Given the description of an element on the screen output the (x, y) to click on. 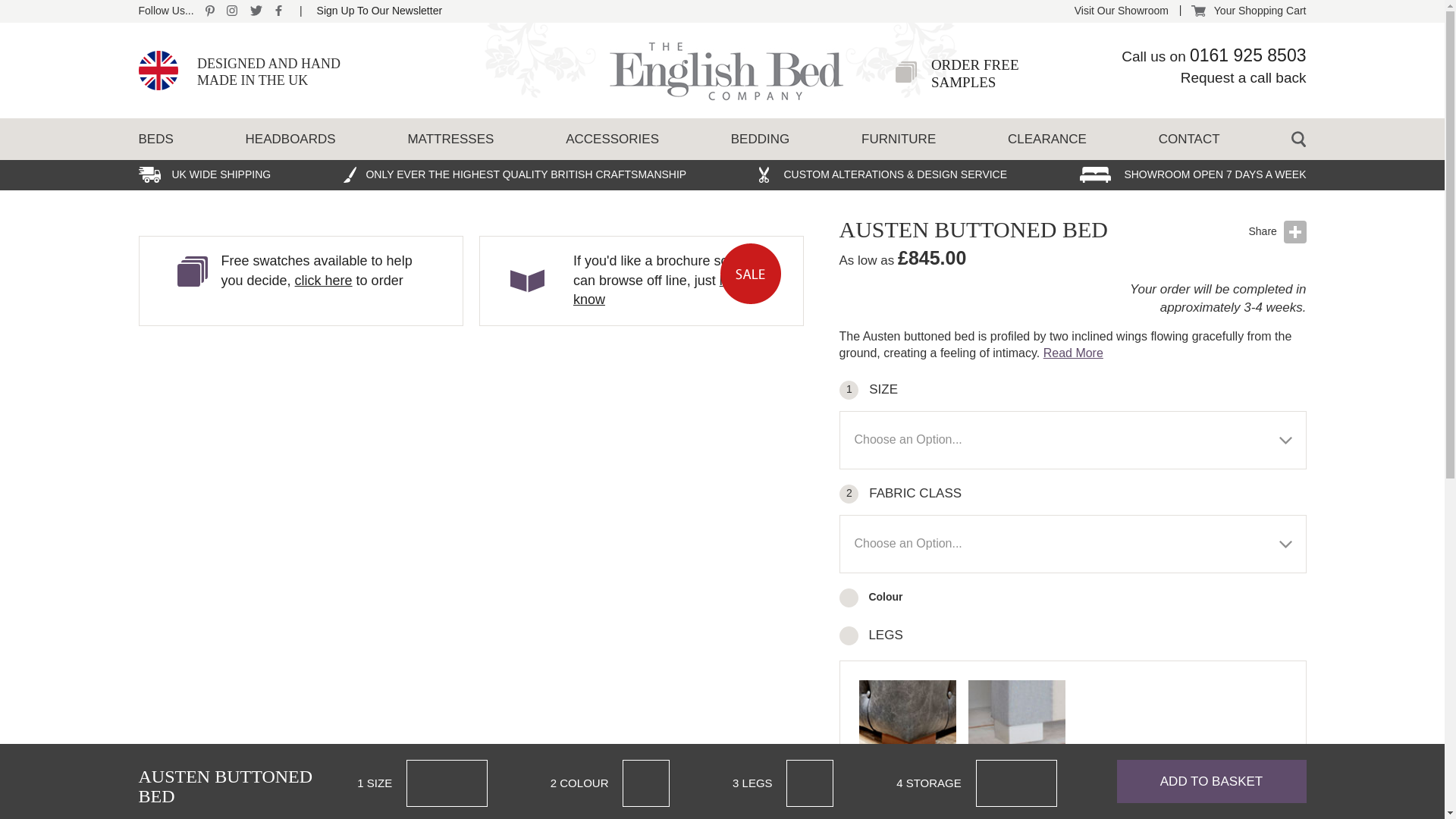
Visit Our Showroom (1121, 10)
Your Shopping Cart (1248, 10)
Sign Up To Our Newsletter (975, 73)
HEADBOARDS (379, 10)
Your Shopping Cart (291, 139)
BEDS (1248, 10)
0161 925 8503 (155, 139)
Order Free Samples (1247, 55)
Request a call back (975, 73)
Beds (1243, 77)
Sign Up To Our Newsletter (155, 139)
Request a call back (379, 10)
Visit Our Showroom (1243, 77)
